Given the description of an element on the screen output the (x, y) to click on. 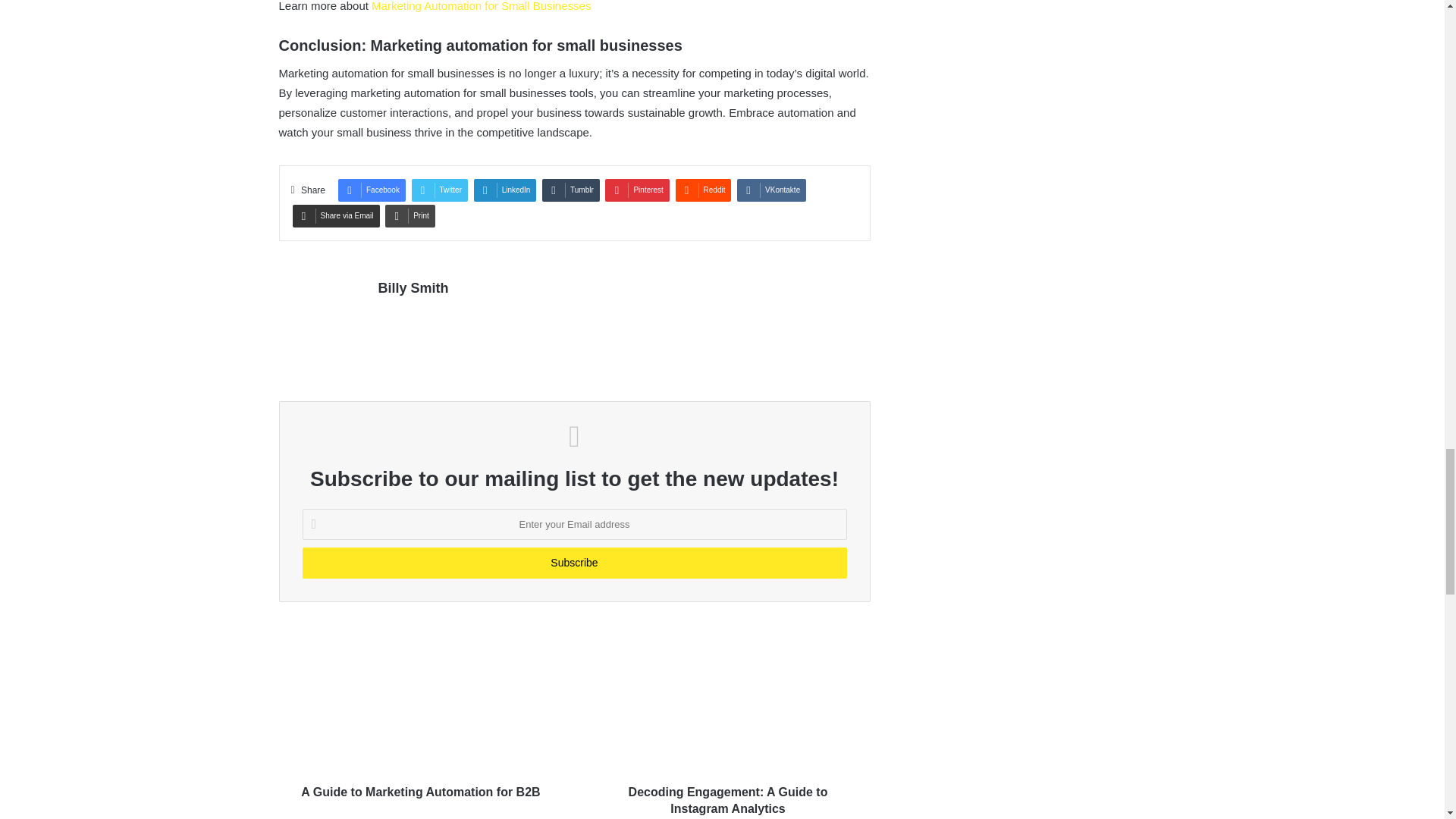
Marketing Automation for Small Businesses (481, 6)
Subscribe (573, 562)
